Given the description of an element on the screen output the (x, y) to click on. 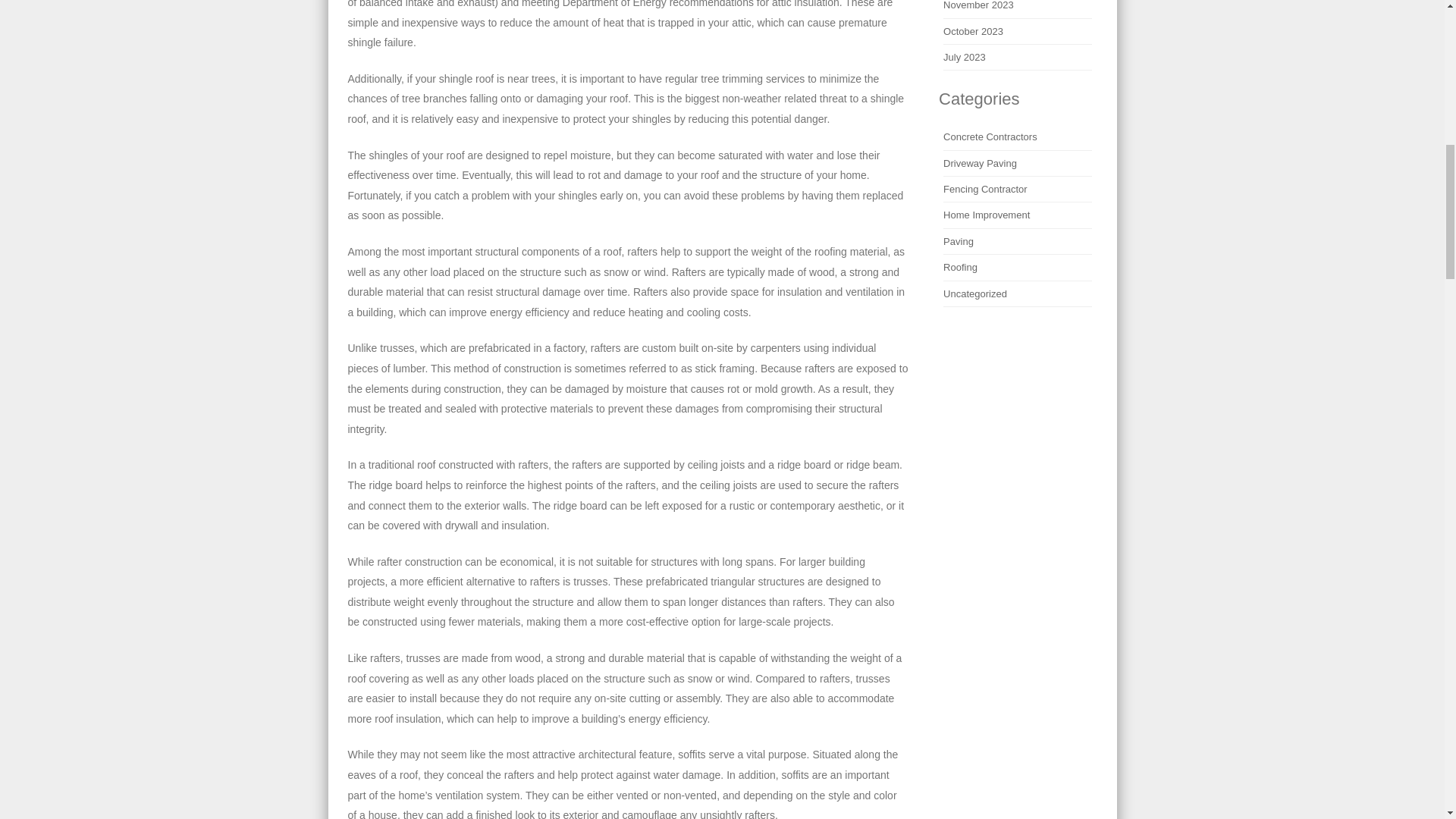
November 2023 (978, 5)
October 2023 (973, 30)
